Given the description of an element on the screen output the (x, y) to click on. 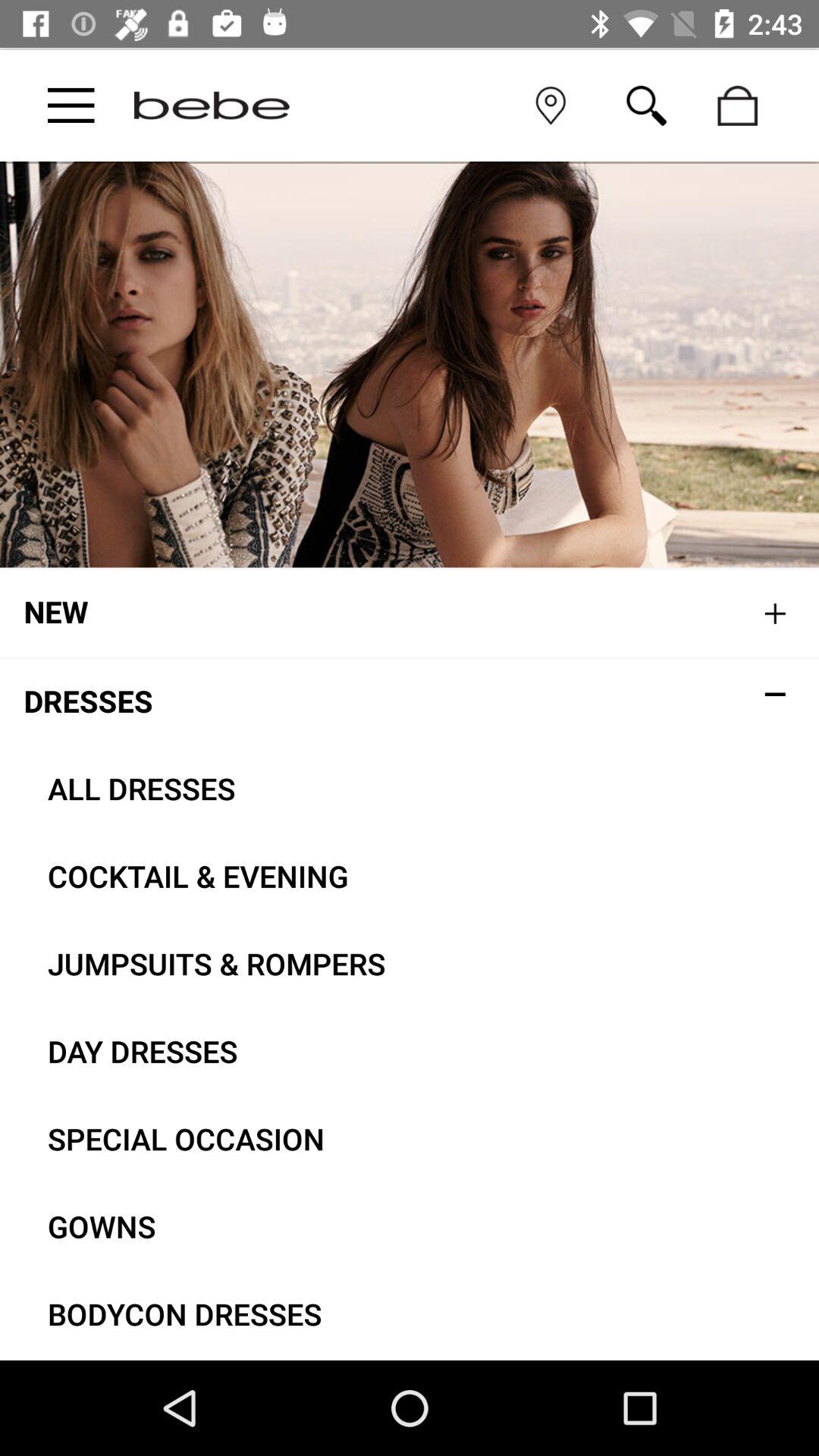
go to main page (211, 105)
